Given the description of an element on the screen output the (x, y) to click on. 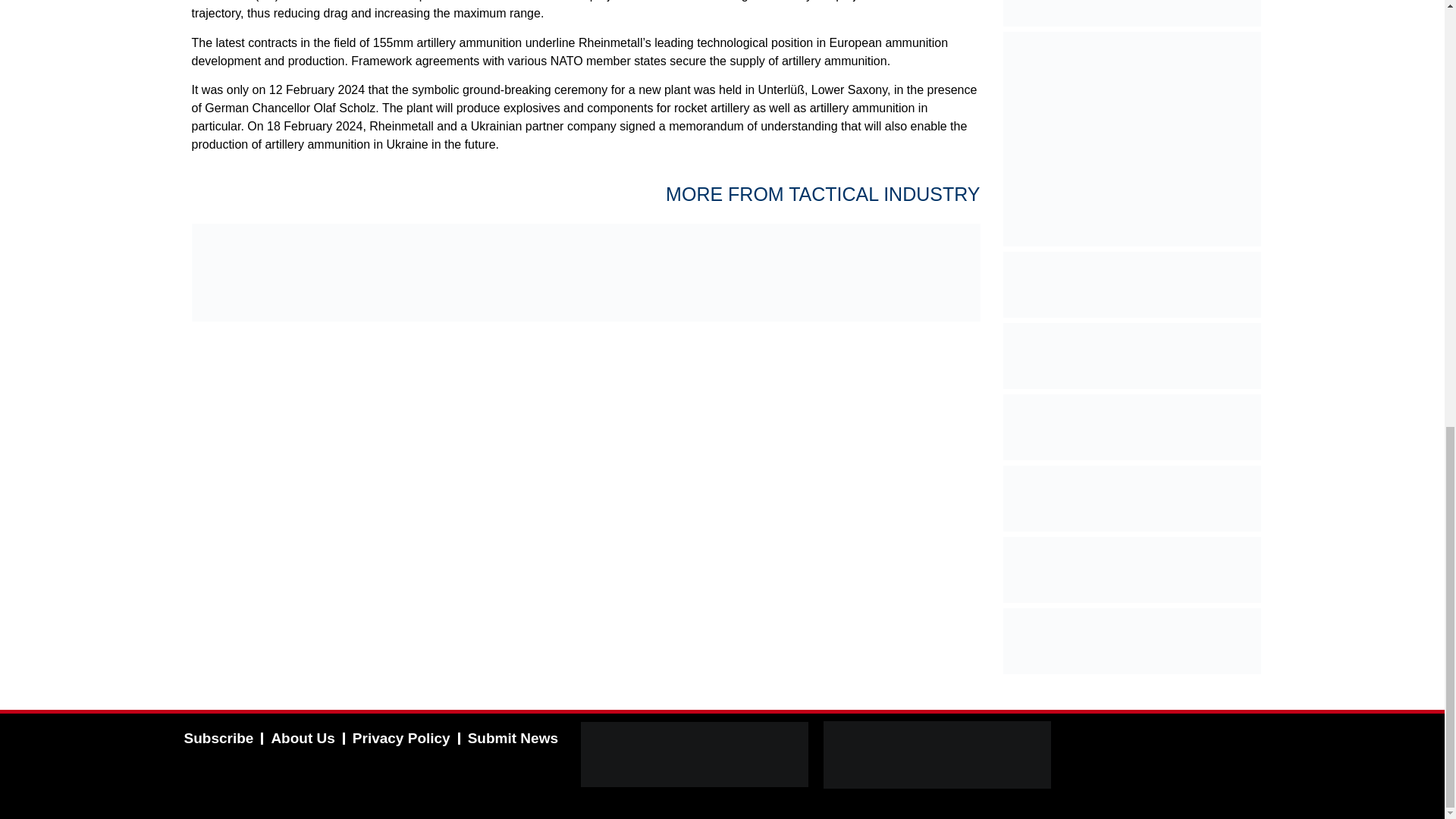
TACTICAL INDUSTRY (884, 193)
Privacy Policy (401, 738)
Submit News (513, 738)
Subscribe (218, 738)
About Us (302, 738)
